Given the description of an element on the screen output the (x, y) to click on. 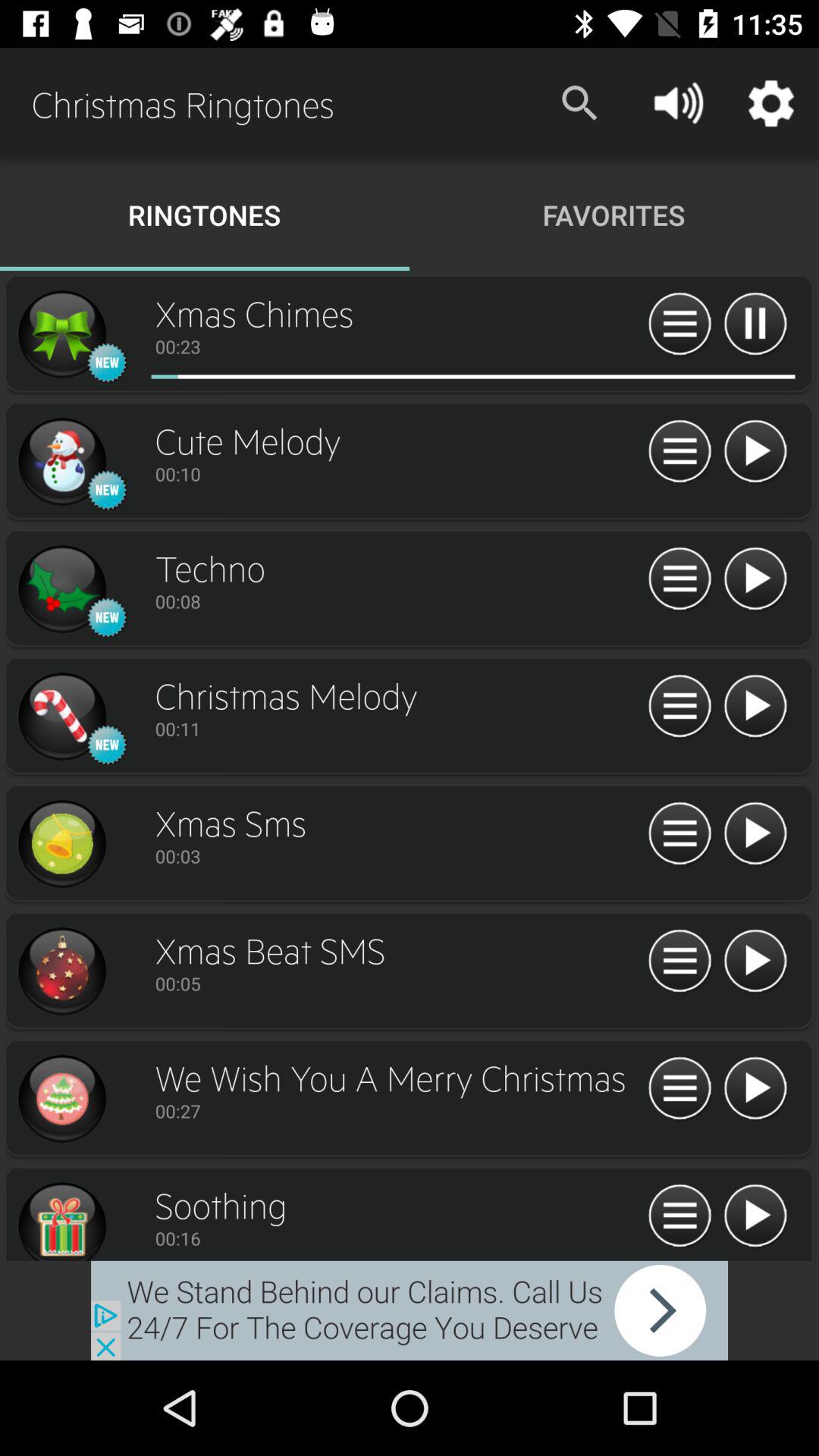
option (61, 589)
